Given the description of an element on the screen output the (x, y) to click on. 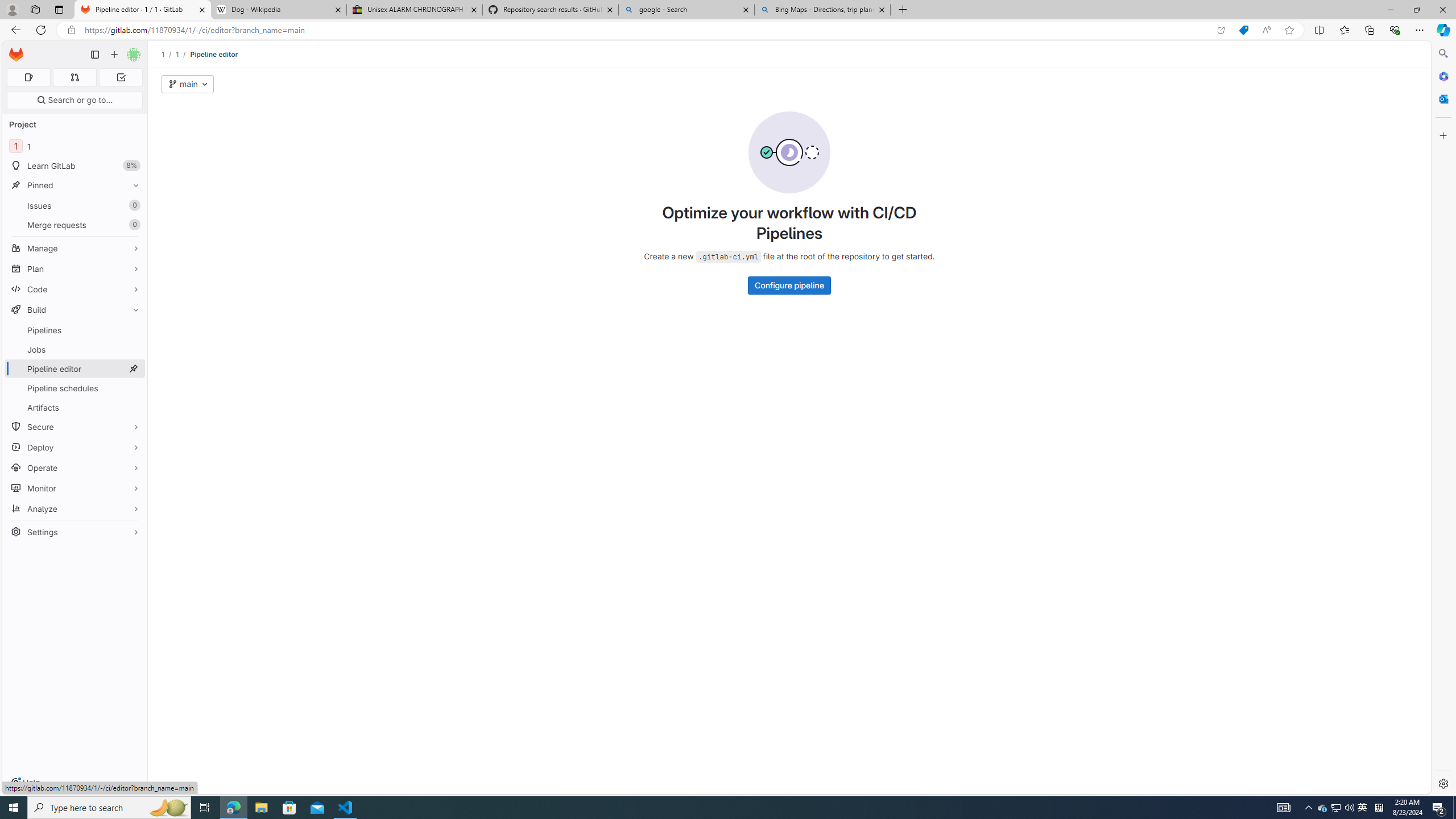
Artifacts (74, 407)
Jobs (74, 348)
Configure pipeline (789, 285)
Monitor (74, 488)
Manage (74, 248)
Unpin Issues (132, 205)
11 (74, 145)
Pipeline editor (213, 53)
Pin Jobs (132, 349)
Pipeline editor (213, 53)
Operate (74, 467)
Analyze (74, 508)
